Given the description of an element on the screen output the (x, y) to click on. 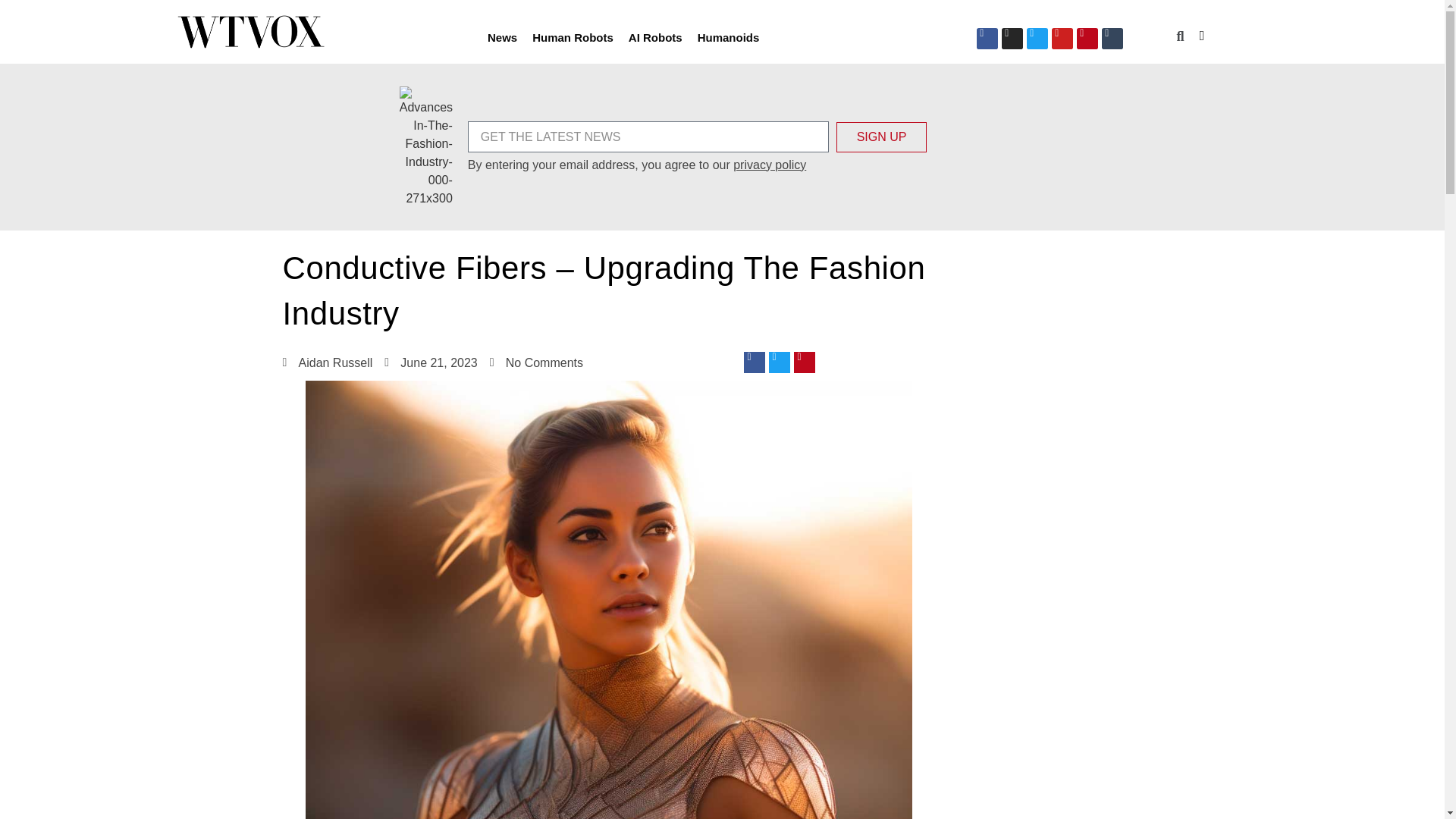
AI Robots (655, 36)
SIGN UP (881, 136)
News (502, 36)
Humanoids (728, 36)
Aidan Russell (327, 361)
privacy policy (769, 164)
June 21, 2023 (430, 361)
No Comments (536, 361)
Human Robots (572, 36)
